Given the description of an element on the screen output the (x, y) to click on. 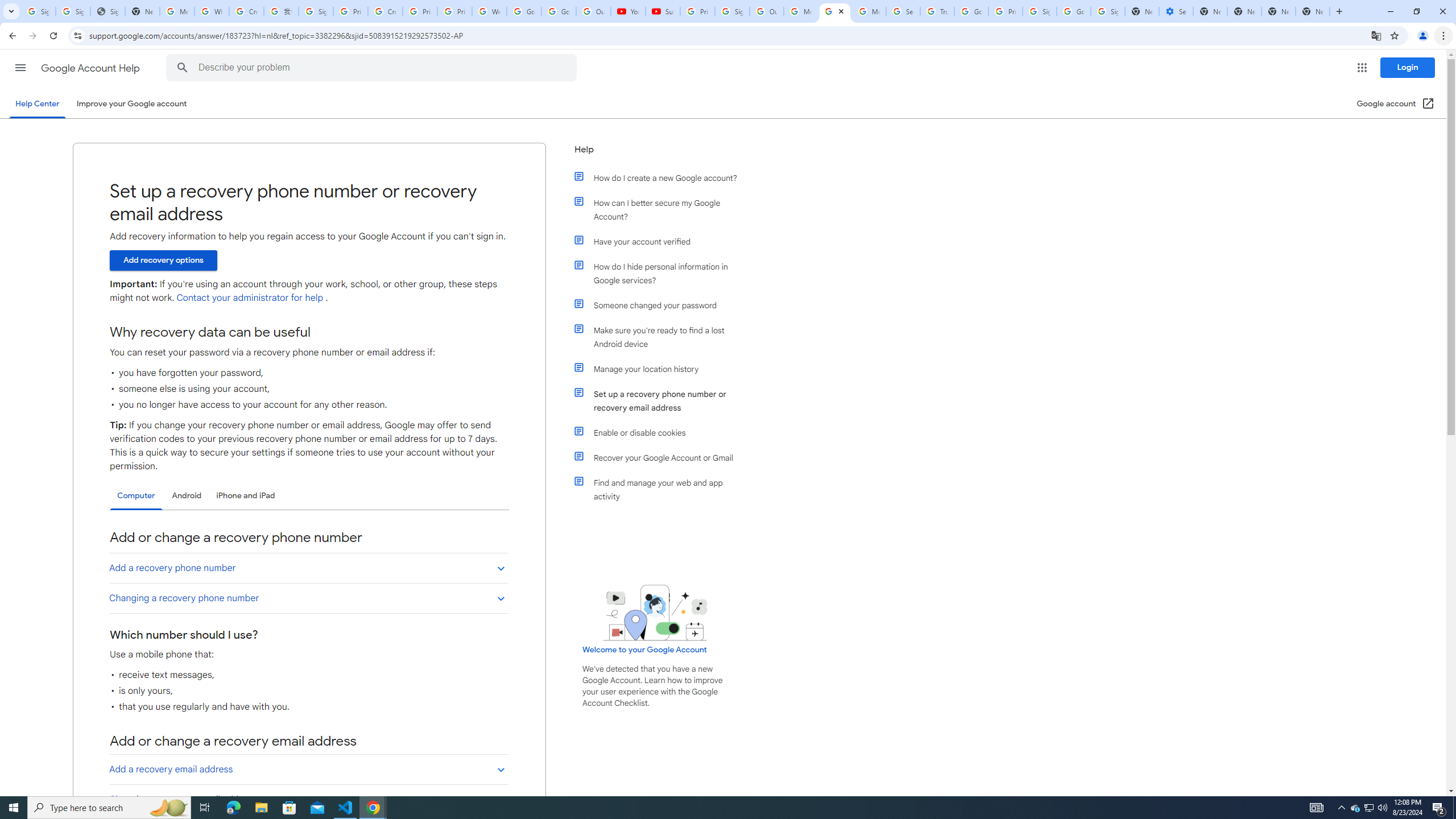
How do I hide personal information in Google services? (661, 273)
How can I better secure my Google Account? (661, 209)
Sign In - USA TODAY (107, 11)
Find and manage your web and app activity (661, 489)
Have your account verified (661, 241)
Welcome to My Activity (489, 11)
Subscriptions - YouTube (662, 11)
Android (186, 495)
Who is my administrator? - Google Account Help (211, 11)
